Given the description of an element on the screen output the (x, y) to click on. 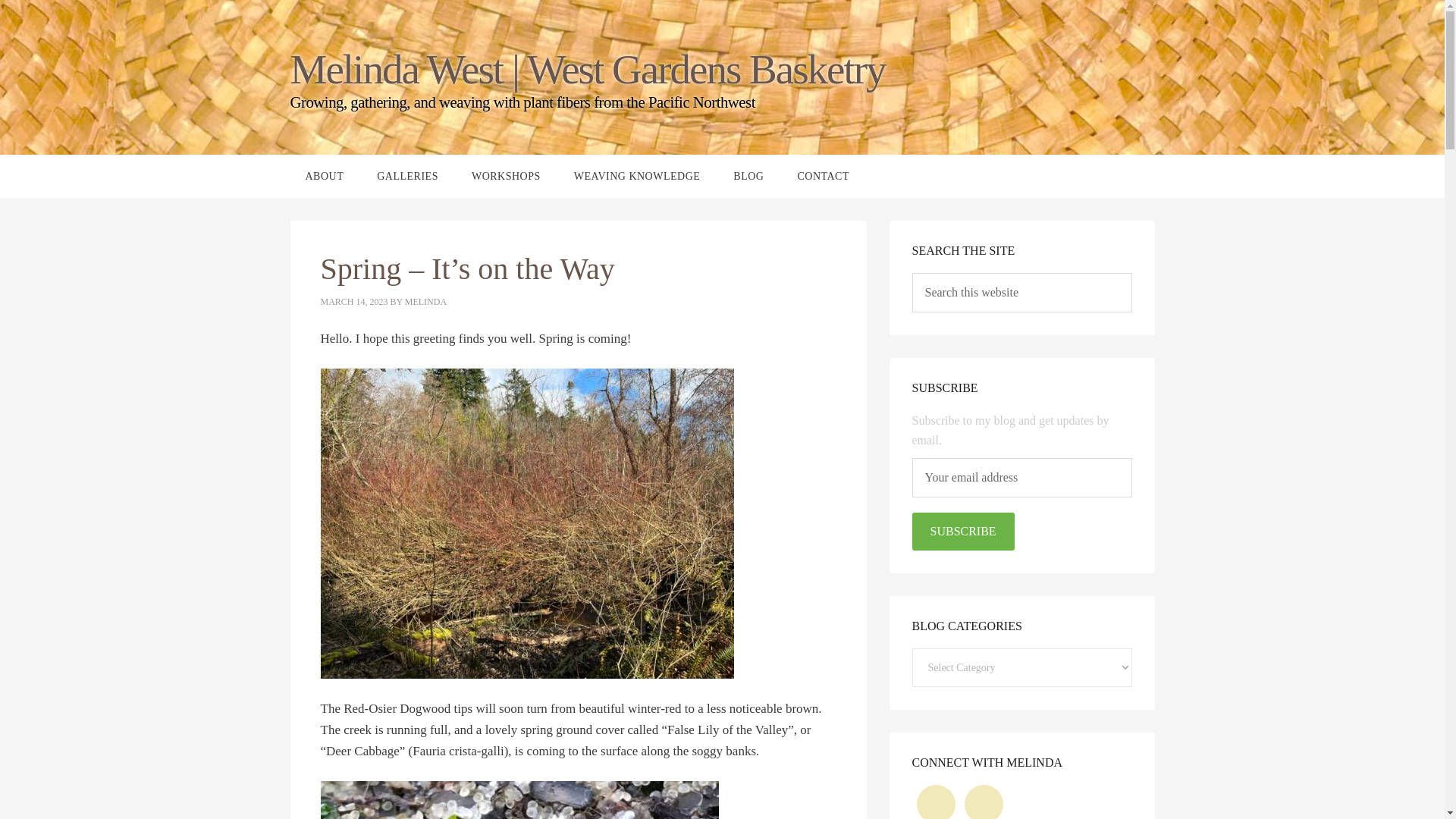
BLOG (747, 176)
MELINDA (425, 301)
CONTACT (822, 176)
Subscribe (962, 531)
WORKSHOPS (506, 176)
ABOUT (323, 176)
WEAVING KNOWLEDGE (637, 176)
Subscribe (962, 531)
GALLERIES (406, 176)
